Given the description of an element on the screen output the (x, y) to click on. 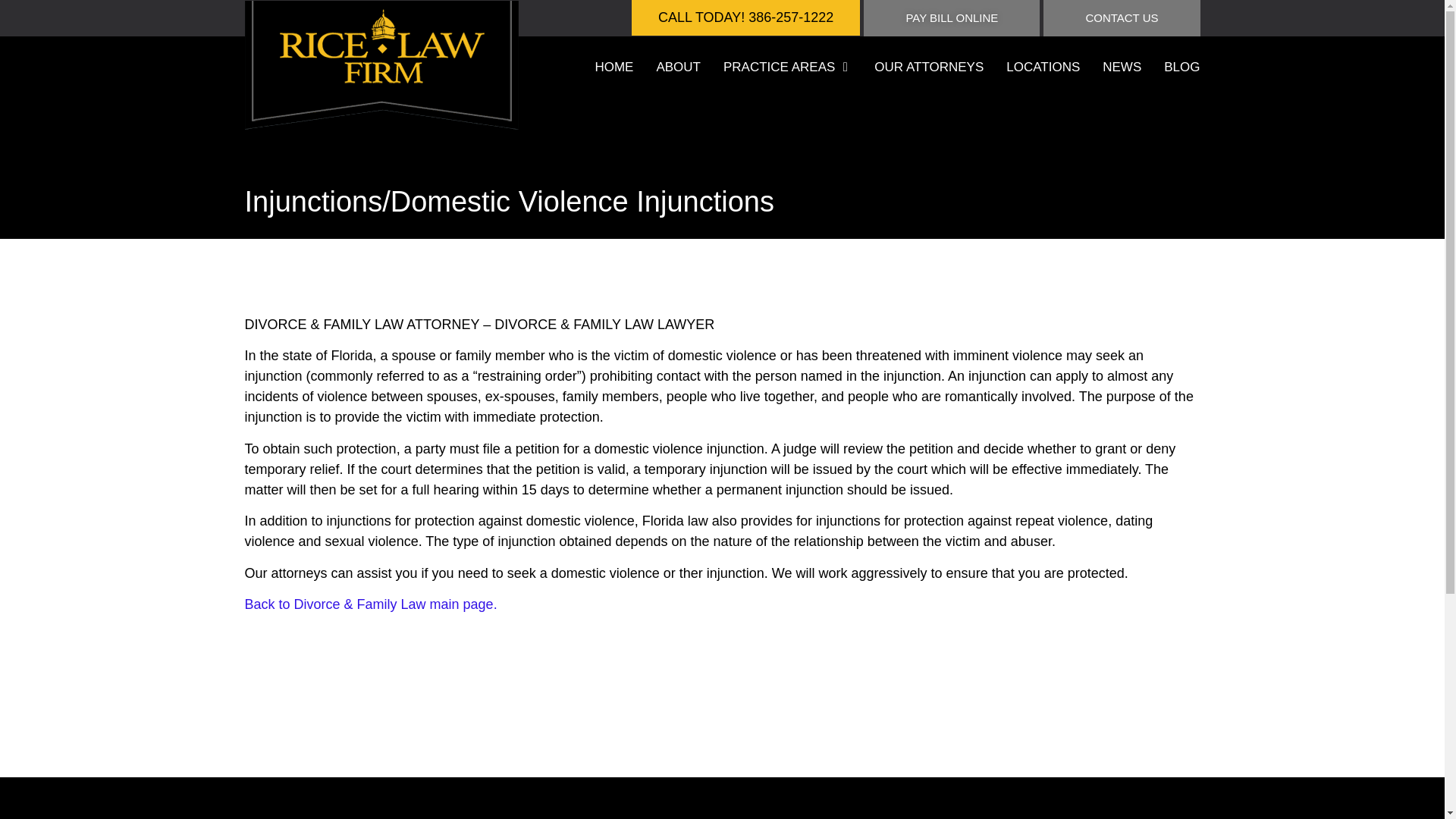
ABOUT (678, 66)
CALL TODAY! 386-257-1222 (745, 18)
HOME (613, 66)
CONTACT US (1121, 18)
PAY BILL ONLINE (951, 18)
NEWS (1121, 66)
PRACTICE AREAS (778, 66)
LOCATIONS (1043, 66)
OUR ATTORNEYS (929, 66)
BLOG (1181, 66)
